Given the description of an element on the screen output the (x, y) to click on. 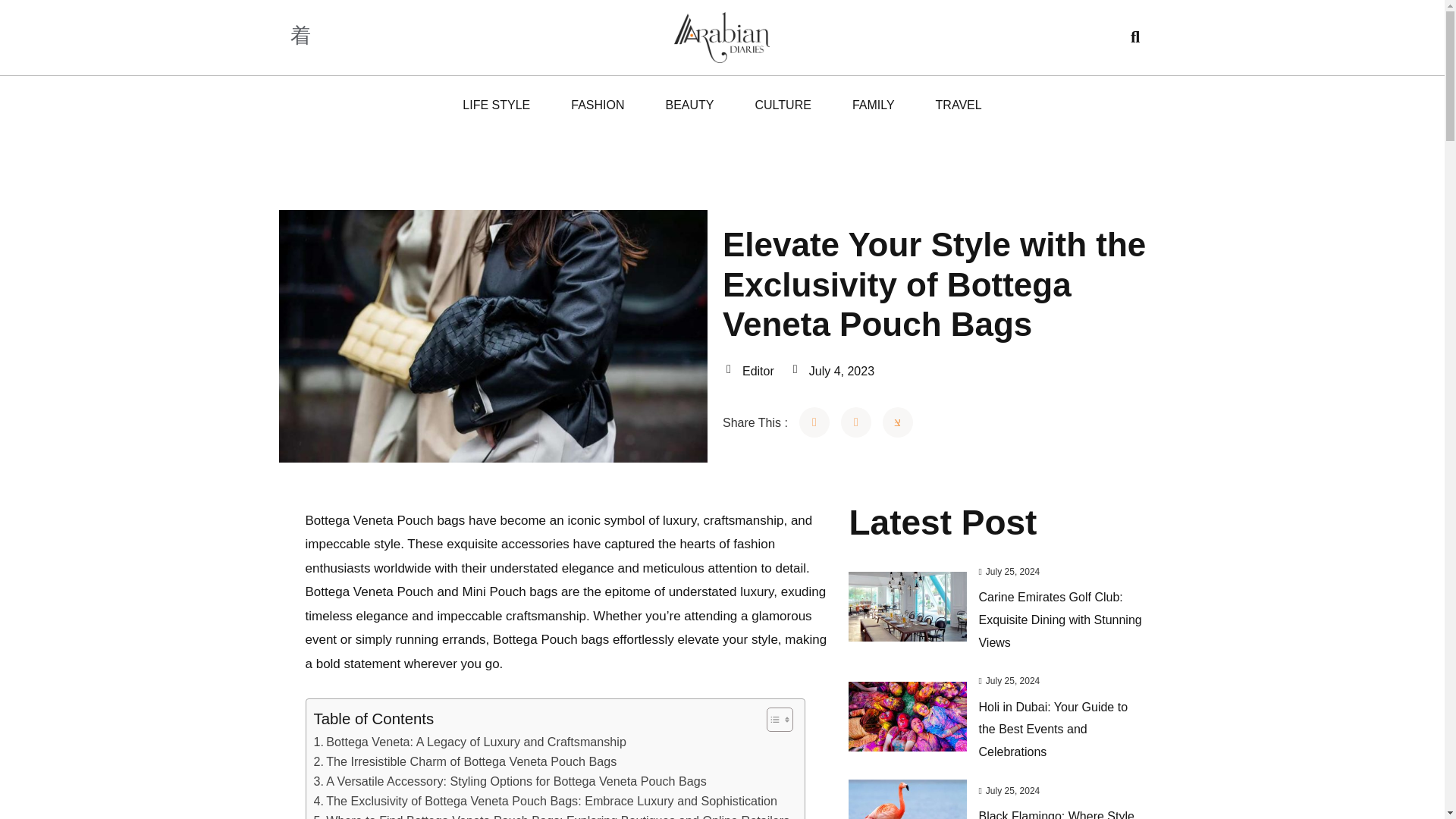
Bottega Veneta: A Legacy of Luxury and Craftsmanship (470, 742)
The Irresistible Charm of Bottega Veneta Pouch Bags (465, 762)
